Given the description of an element on the screen output the (x, y) to click on. 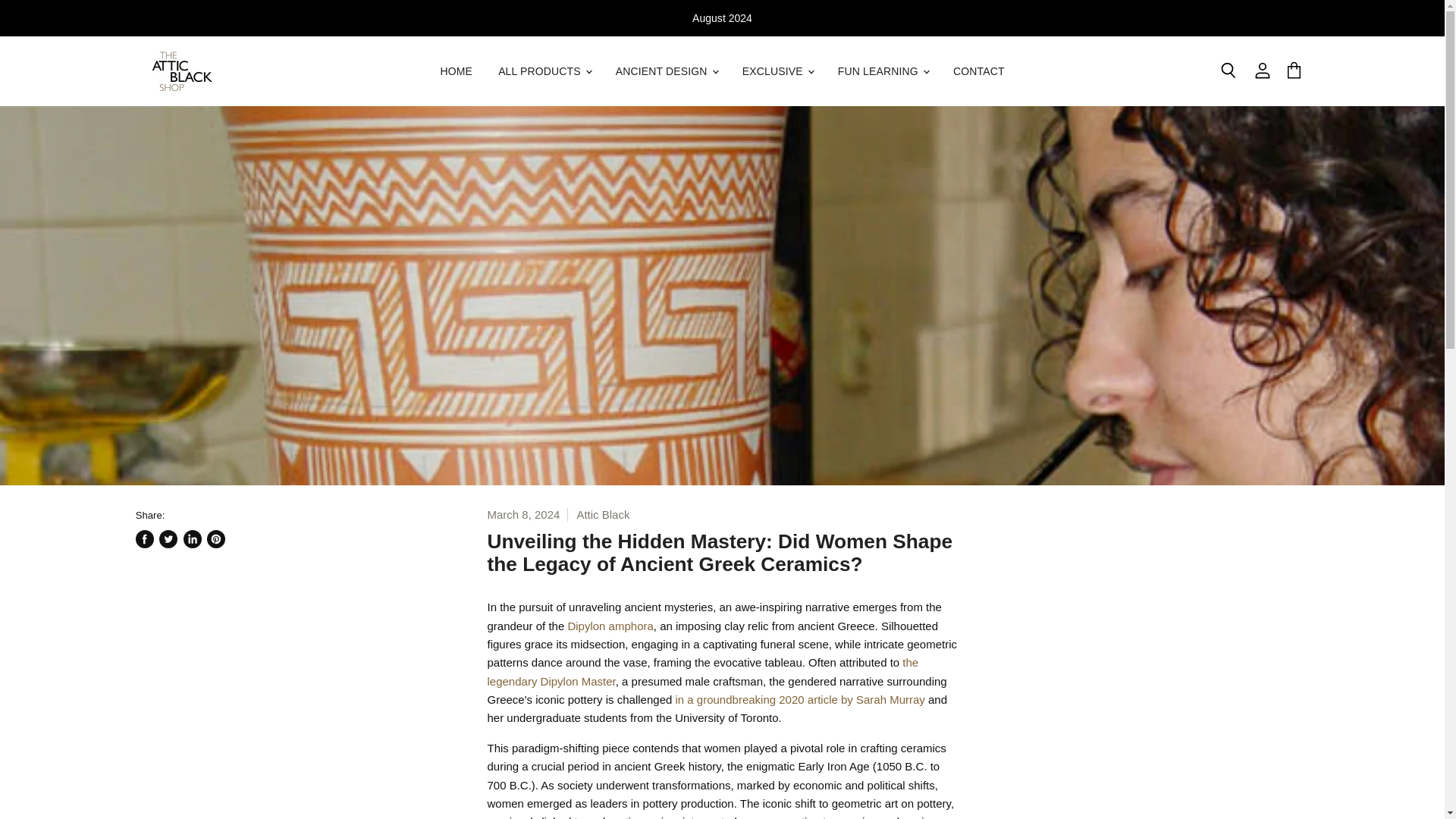
FUN LEARNING (883, 71)
EXCLUSIVE (777, 71)
Dipylon Amphora (609, 625)
HOME (455, 71)
CONTACT (979, 71)
ANCIENT DESIGN (666, 71)
Dipylon Master (702, 671)
The Dipylon Mistress: Social and Economic Complexity, (799, 698)
ALL PRODUCTS (543, 71)
